Given the description of an element on the screen output the (x, y) to click on. 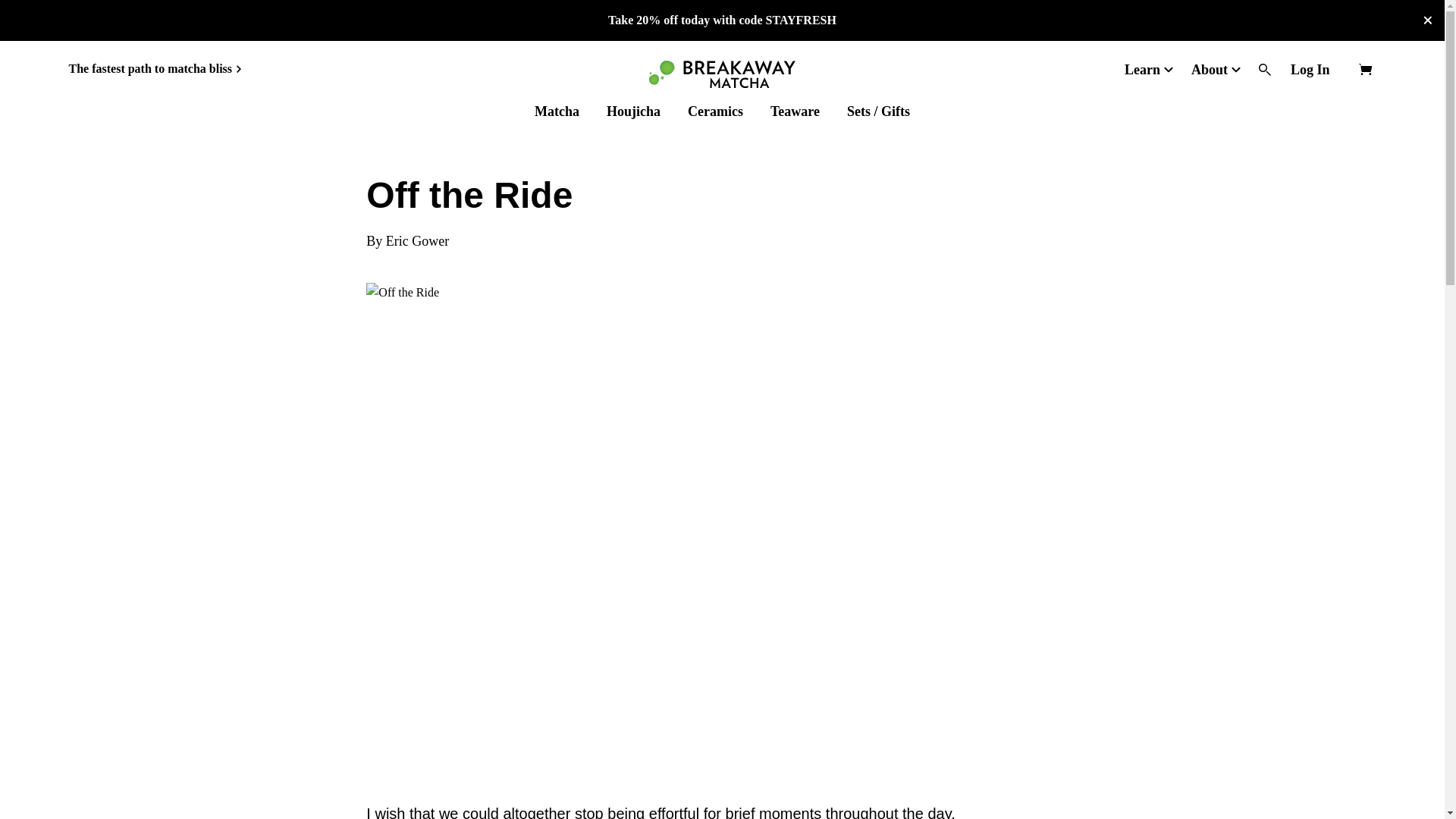
About (1211, 69)
The fastest path to matcha bliss (154, 68)
Ceramics (714, 111)
Learn (1143, 69)
Matcha (556, 111)
Teaware (794, 111)
Houjicha (634, 111)
Log In (1310, 69)
